Given the description of an element on the screen output the (x, y) to click on. 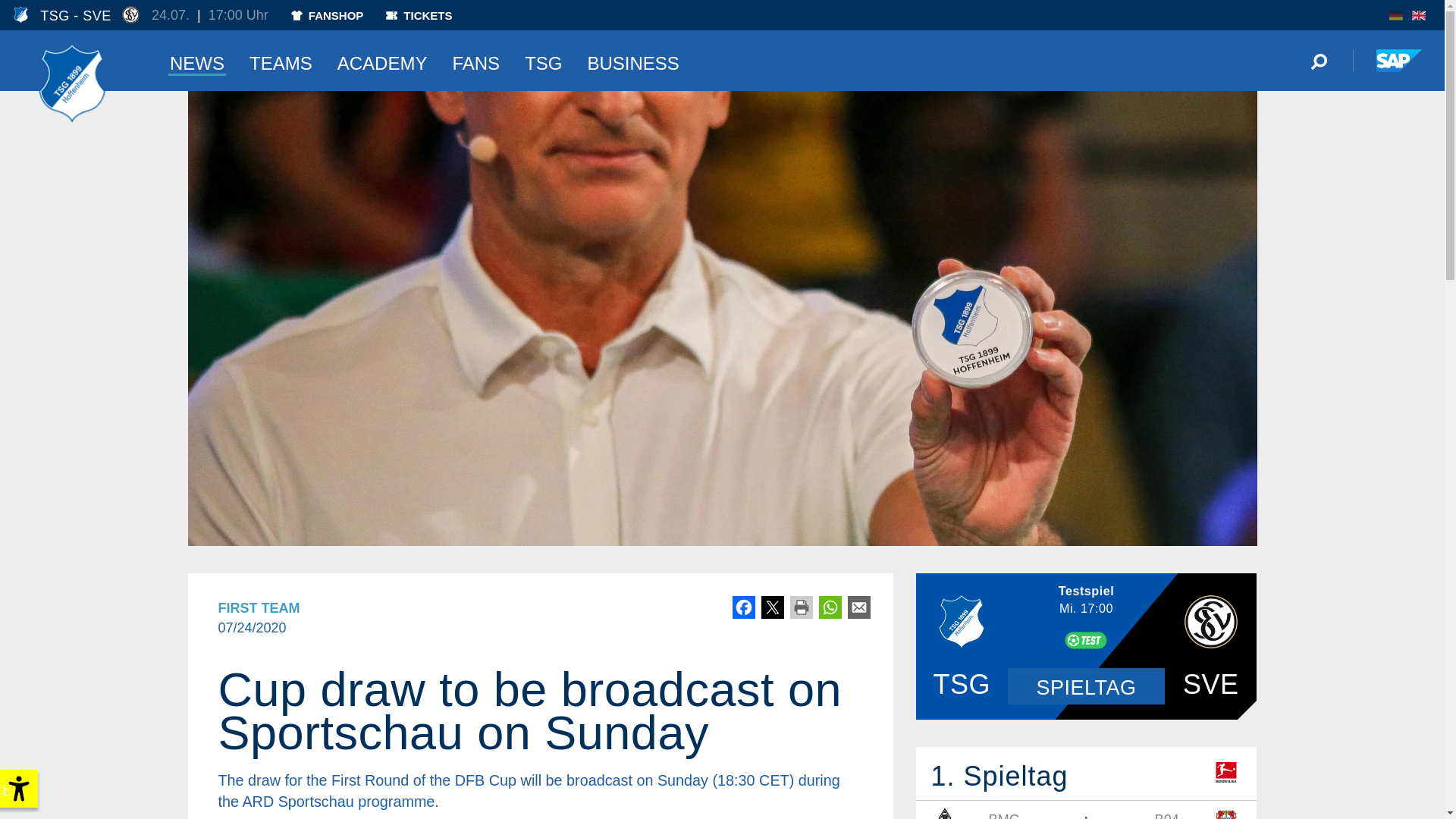
NEWS (196, 60)
FANSHOP (327, 15)
ACADEMY (382, 60)
TICKETS (418, 15)
TEAMS (280, 60)
